Given the description of an element on the screen output the (x, y) to click on. 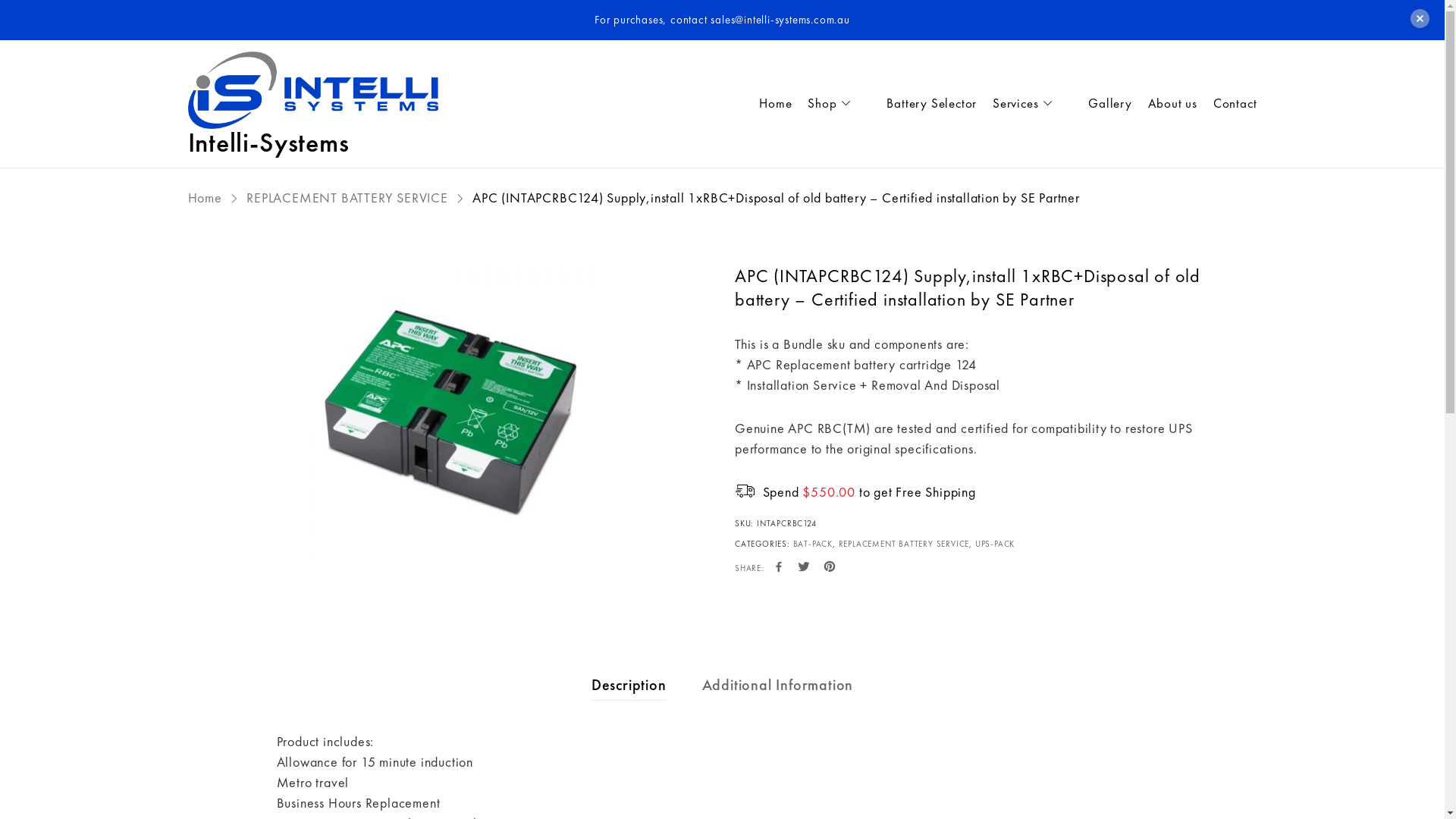
Shop Element type: text (831, 103)
About us Element type: text (1164, 103)
Gallery Element type: text (1102, 103)
APCRBC124 Element type: hover (448, 415)
Share to twitter Element type: hover (804, 567)
Contact Element type: text (1227, 103)
Home Element type: text (767, 103)
BAT-PACK Element type: text (812, 543)
Additional Information Element type: text (777, 684)
Description Element type: text (628, 684)
REPLACEMENT BATTERY SERVICE Element type: text (347, 197)
Share to pinterest Element type: hover (829, 567)
Battery Selector Element type: text (923, 103)
Home Element type: text (205, 197)
Share to facebook Element type: hover (778, 567)
UPS-PACK Element type: text (994, 543)
Intelli-Systems Element type: text (268, 142)
Services Element type: text (1024, 103)
Intelli-Systems Element type: hover (313, 90)
REPLACEMENT BATTERY SERVICE Element type: text (903, 543)
